Given the description of an element on the screen output the (x, y) to click on. 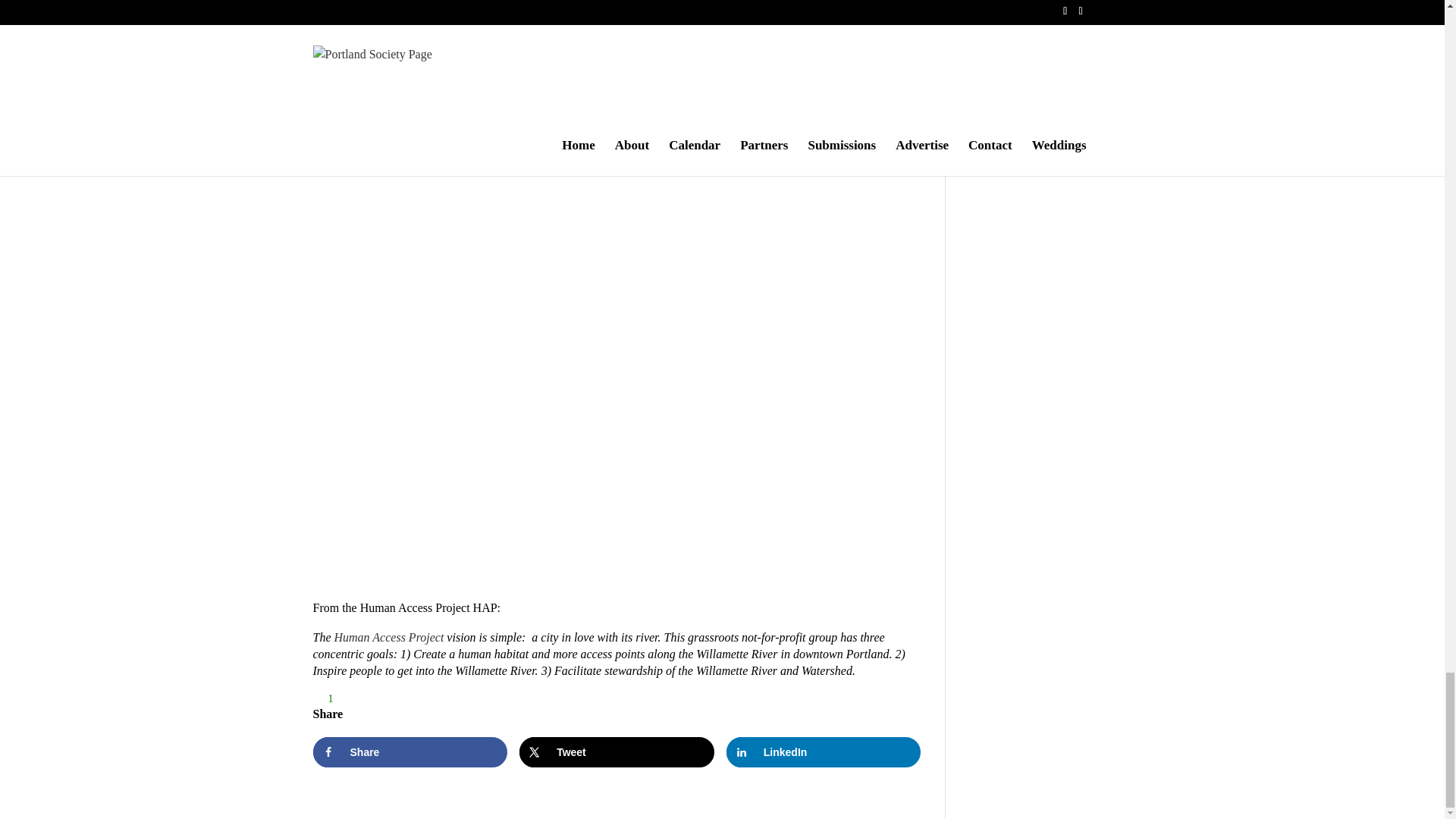
LinkedIn (823, 752)
Human Access Project (388, 636)
Tweet (616, 752)
Share on Facebook (409, 752)
Share on X (616, 752)
Share on LinkedIn (823, 752)
Share (409, 752)
